Given the description of an element on the screen output the (x, y) to click on. 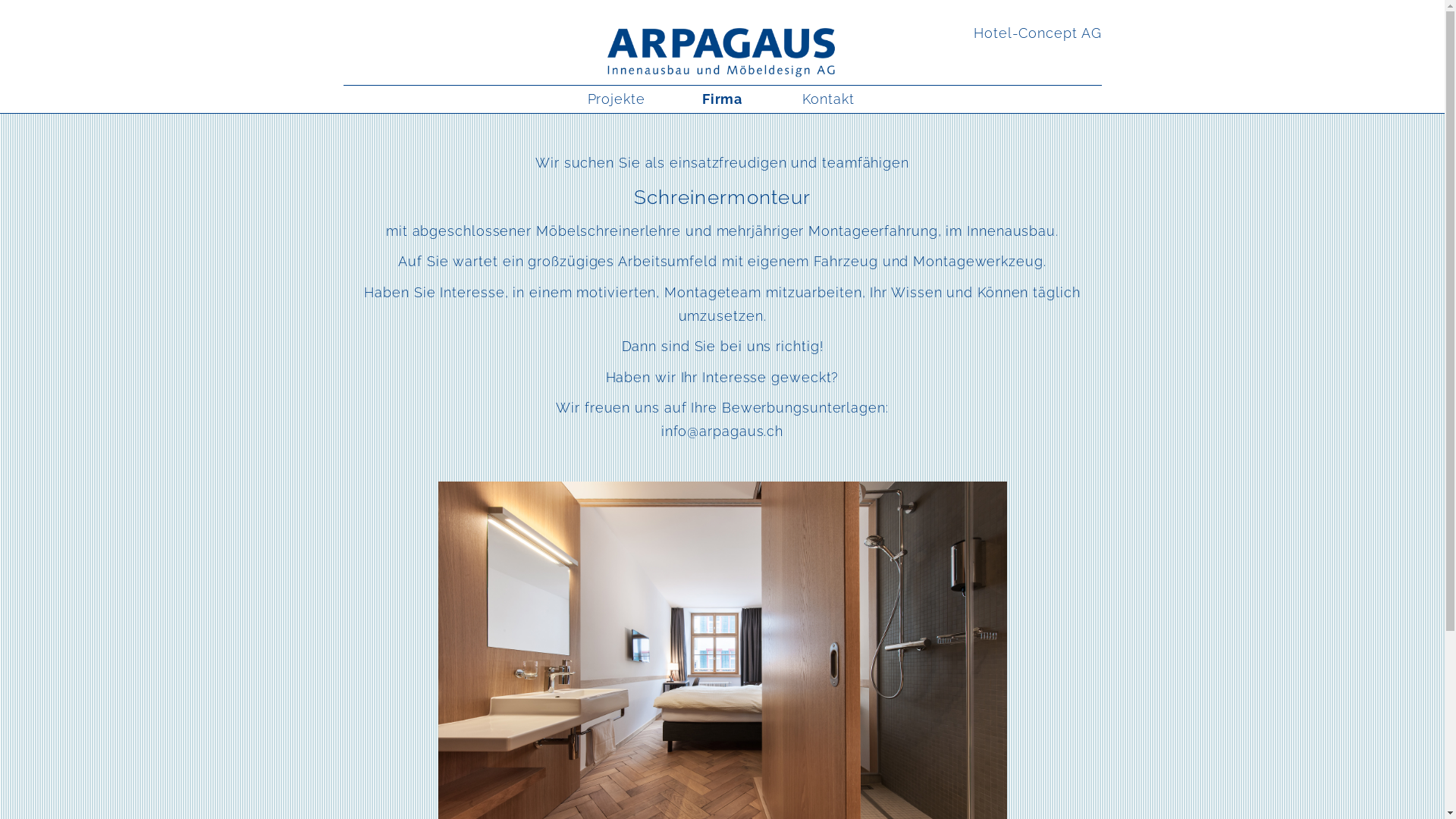
Projekte Element type: text (615, 98)
Kontakt Element type: text (828, 98)
info@arpagaus.ch Element type: text (722, 431)
Firma Element type: text (721, 98)
Hotel-Concept AG Element type: text (1037, 32)
